Given the description of an element on the screen output the (x, y) to click on. 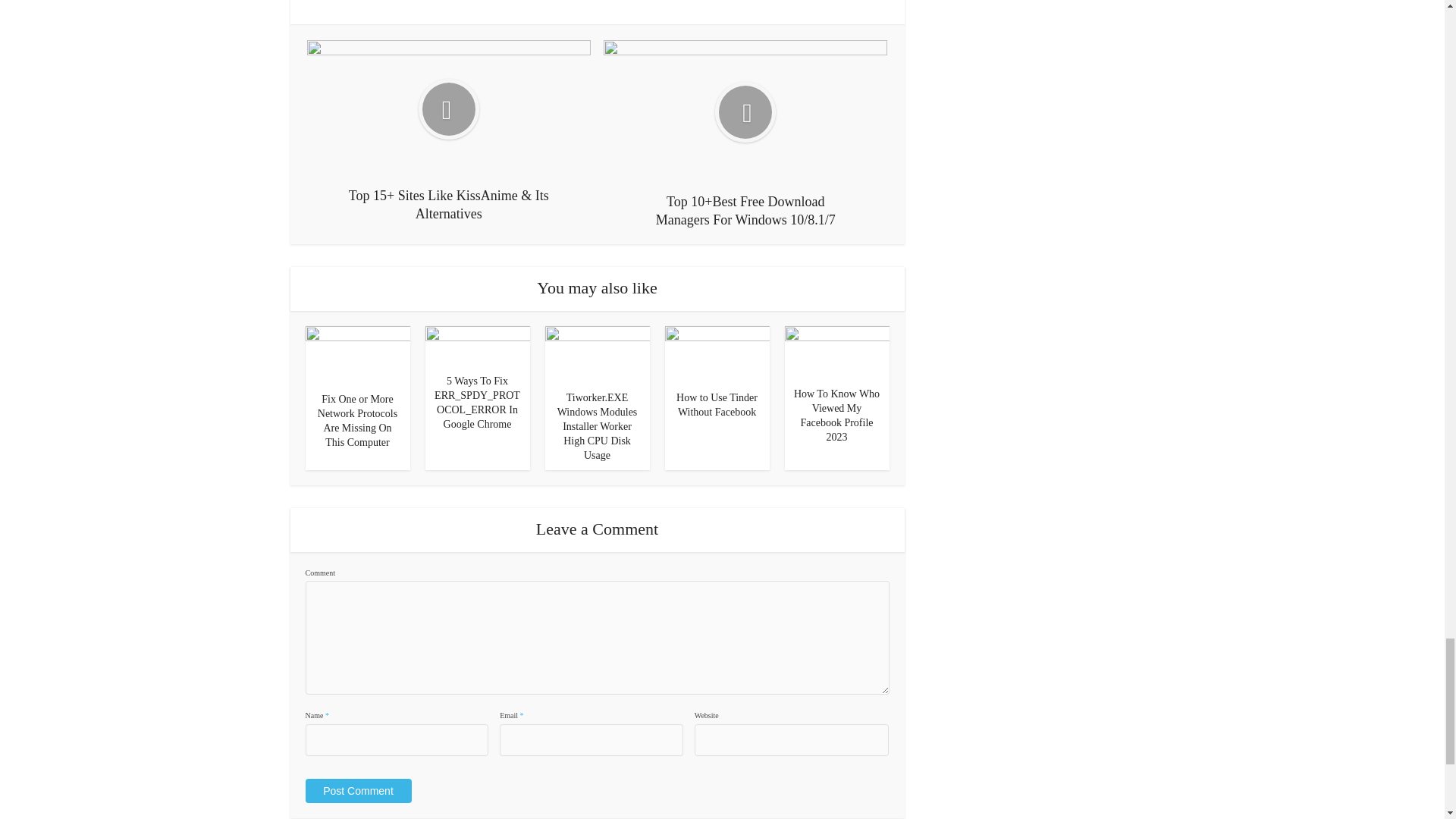
How To Know Who Viewed My Facebook Profile 2023 (836, 351)
Post Comment (357, 790)
How to Use Tinder Without Facebook (715, 353)
How to Use Tinder Without Facebook (717, 404)
Post Comment (357, 790)
How To Know Who Viewed My Facebook Profile 2023 (836, 415)
How To Know Who Viewed My Facebook Profile 2023 (836, 415)
How to Use Tinder Without Facebook (717, 404)
